Given the description of an element on the screen output the (x, y) to click on. 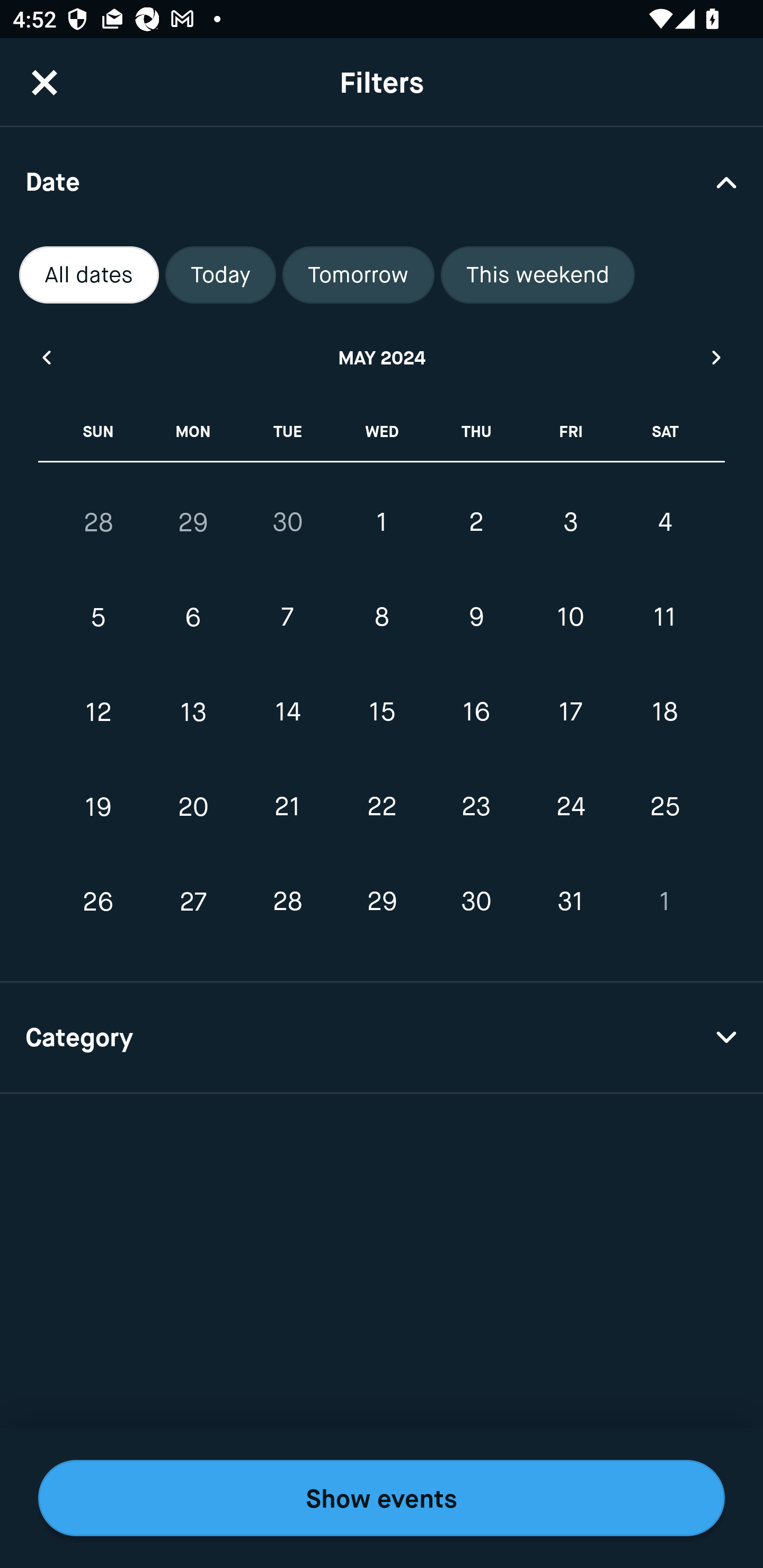
CloseButton (44, 82)
Date Drop Down Arrow (381, 181)
All dates (88, 274)
Today (220, 274)
Tomorrow (358, 274)
This weekend (537, 274)
Previous (45, 357)
Next (717, 357)
28 (98, 522)
29 (192, 522)
30 (287, 522)
1 (381, 522)
2 (475, 522)
3 (570, 522)
4 (664, 522)
5 (98, 617)
6 (192, 617)
7 (287, 617)
8 (381, 617)
9 (475, 617)
10 (570, 617)
11 (664, 617)
12 (98, 711)
13 (192, 711)
14 (287, 711)
15 (381, 711)
16 (475, 711)
17 (570, 711)
18 (664, 711)
19 (98, 806)
20 (192, 806)
21 (287, 806)
22 (381, 806)
23 (475, 806)
24 (570, 806)
25 (664, 806)
26 (98, 901)
27 (192, 901)
28 (287, 901)
29 (381, 901)
30 (475, 901)
31 (570, 901)
1 (664, 901)
Category Drop Down Arrow (381, 1038)
Show events (381, 1497)
